Given the description of an element on the screen output the (x, y) to click on. 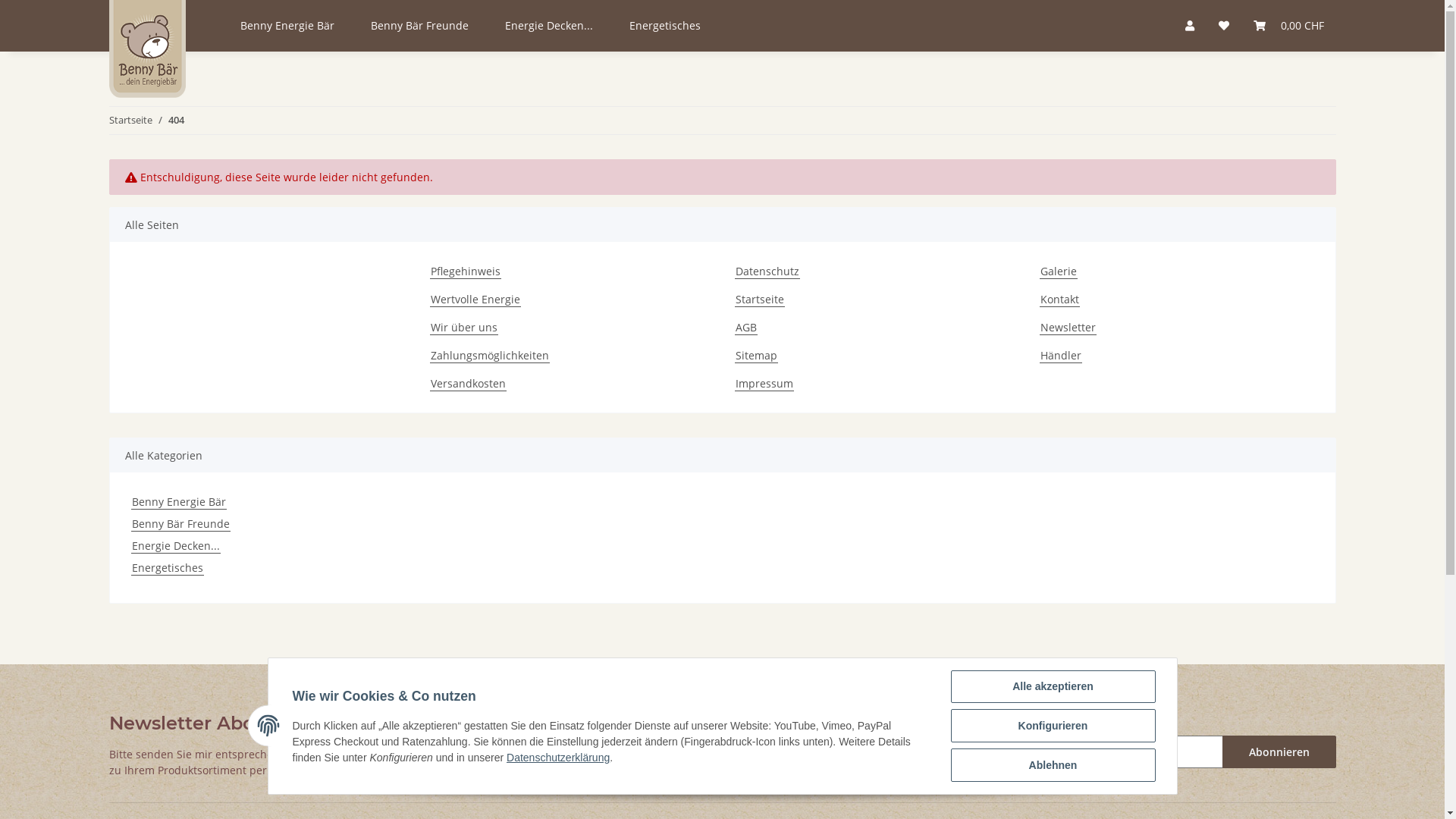
Datenschutz Element type: text (766, 271)
Sitemap Element type: text (755, 355)
Abonnieren Element type: text (1279, 751)
Startseite Element type: text (130, 120)
Impressum Element type: text (763, 383)
Pflegehinweis Element type: text (464, 271)
Wertvolle Energie Element type: text (474, 299)
Konfigurieren Element type: text (1052, 725)
Startseite Element type: text (759, 299)
Energie Decken... Element type: text (174, 545)
404 Element type: text (176, 120)
Galerie Element type: text (1057, 271)
Kontakt Element type: text (1058, 299)
AGB Element type: text (745, 327)
Energetisches Element type: text (166, 567)
Newsletter Element type: text (1066, 327)
Ablehnen Element type: text (1052, 764)
Alle akzeptieren Element type: text (1052, 686)
Versandkosten Element type: text (467, 383)
